Given the description of an element on the screen output the (x, y) to click on. 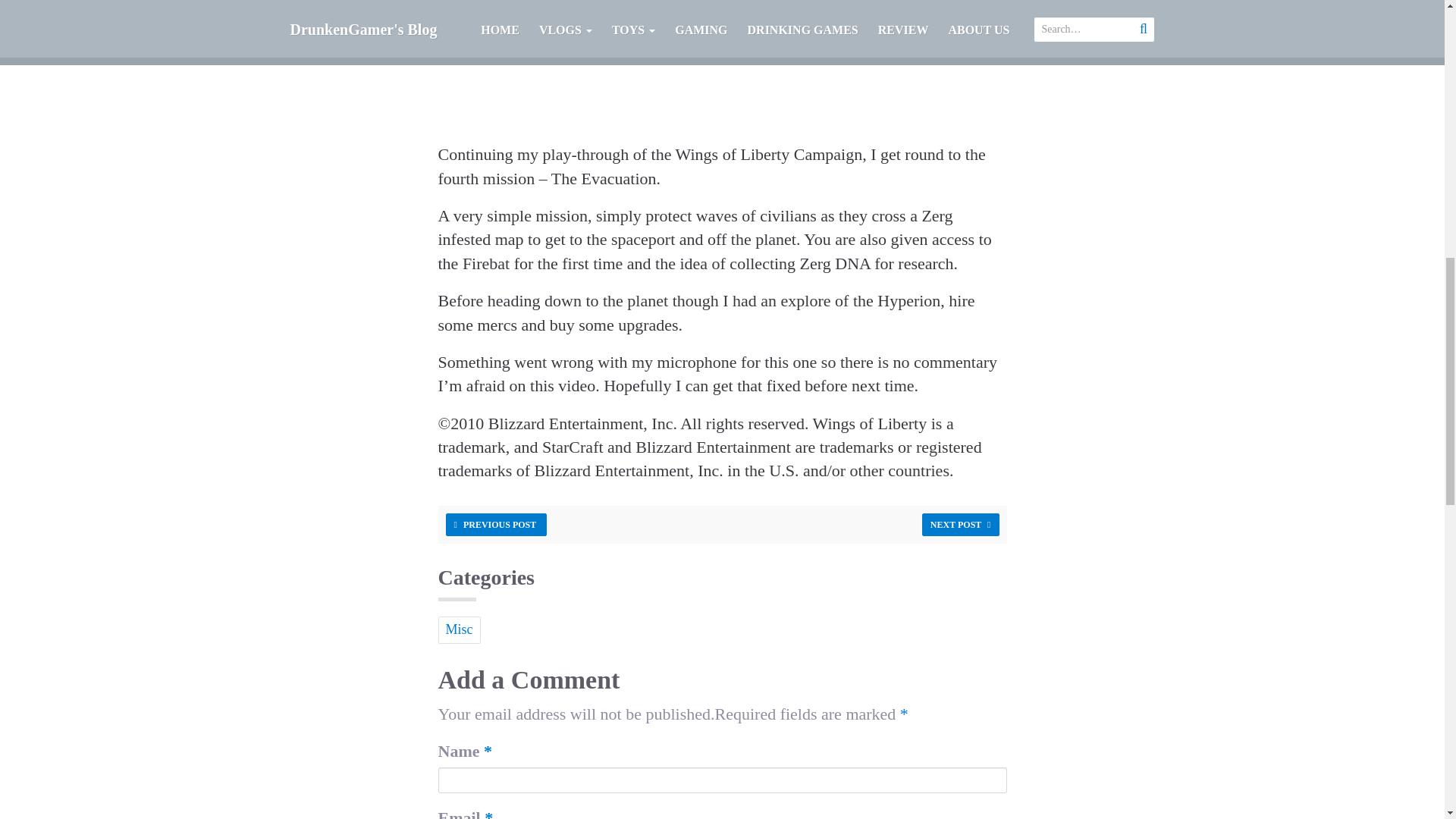
NEXT POST (959, 524)
Misc (459, 630)
PREVIOUS POST (496, 524)
